Given the description of an element on the screen output the (x, y) to click on. 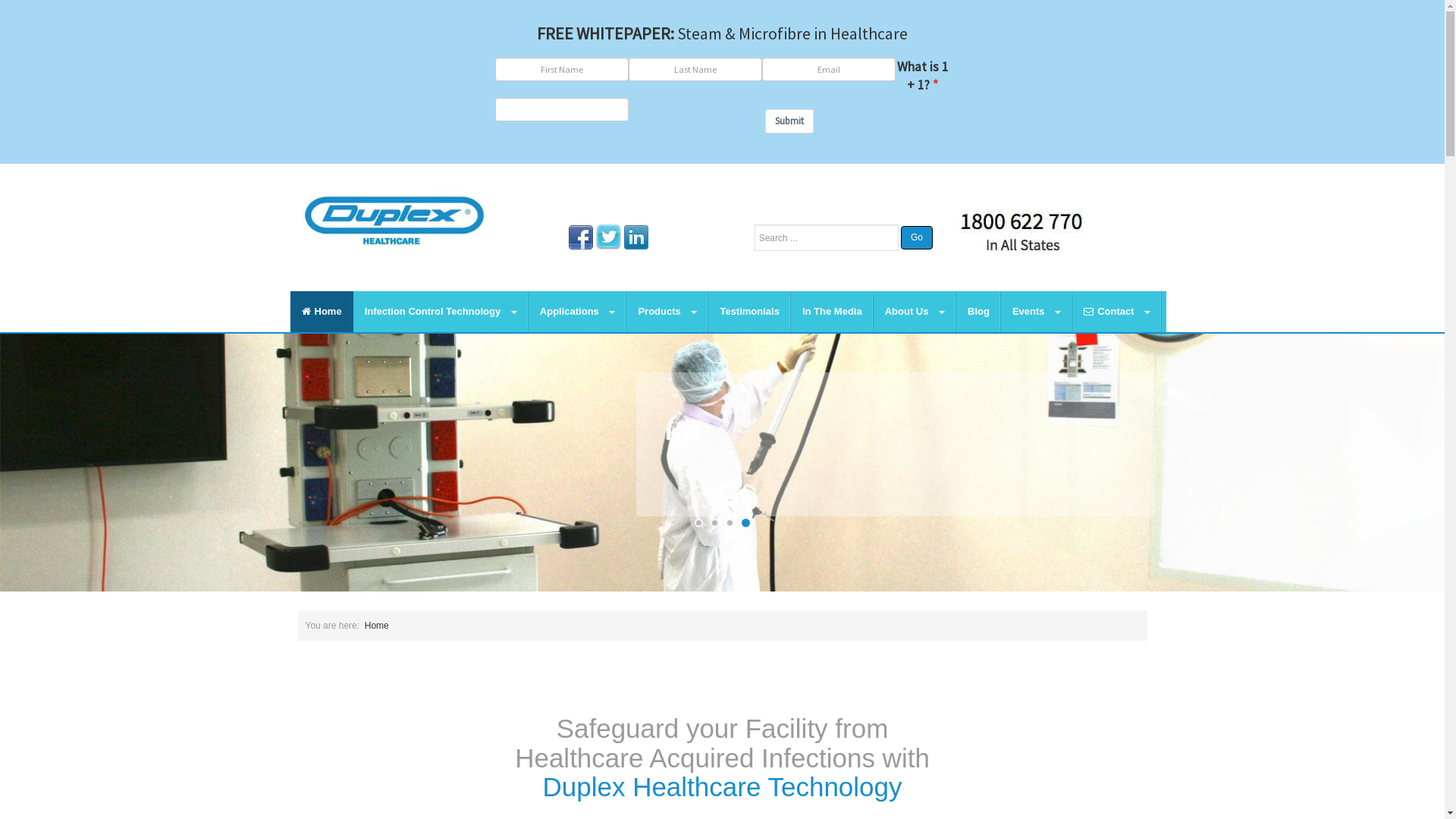
In The Media Element type: text (831, 311)
Duplex Healthcare Twitter Element type: hover (608, 236)
Duplex Healthcare Facebook Element type: hover (580, 234)
Tap to call us now Element type: hover (1021, 231)
Submit Element type: text (788, 121)
Applications Element type: text (577, 311)
Home Element type: text (320, 311)
FIND OUT HOW Element type: text (696, 498)
Events Element type: text (1036, 311)
Linked In icon Element type: hover (636, 236)
Go Element type: text (916, 237)
Testimonials Element type: text (749, 311)
Tap to call us now Element type: hover (1021, 230)
About Us Element type: text (914, 311)
Blog Element type: text (978, 311)
Contact Element type: text (1116, 311)
Infection Control Technology Element type: text (440, 311)
Duplex Healthcare Twitter Element type: hover (608, 234)
Products Element type: text (667, 311)
Linked In Profile for Duplex Cleaning Machines Element type: hover (636, 234)
